Given the description of an element on the screen output the (x, y) to click on. 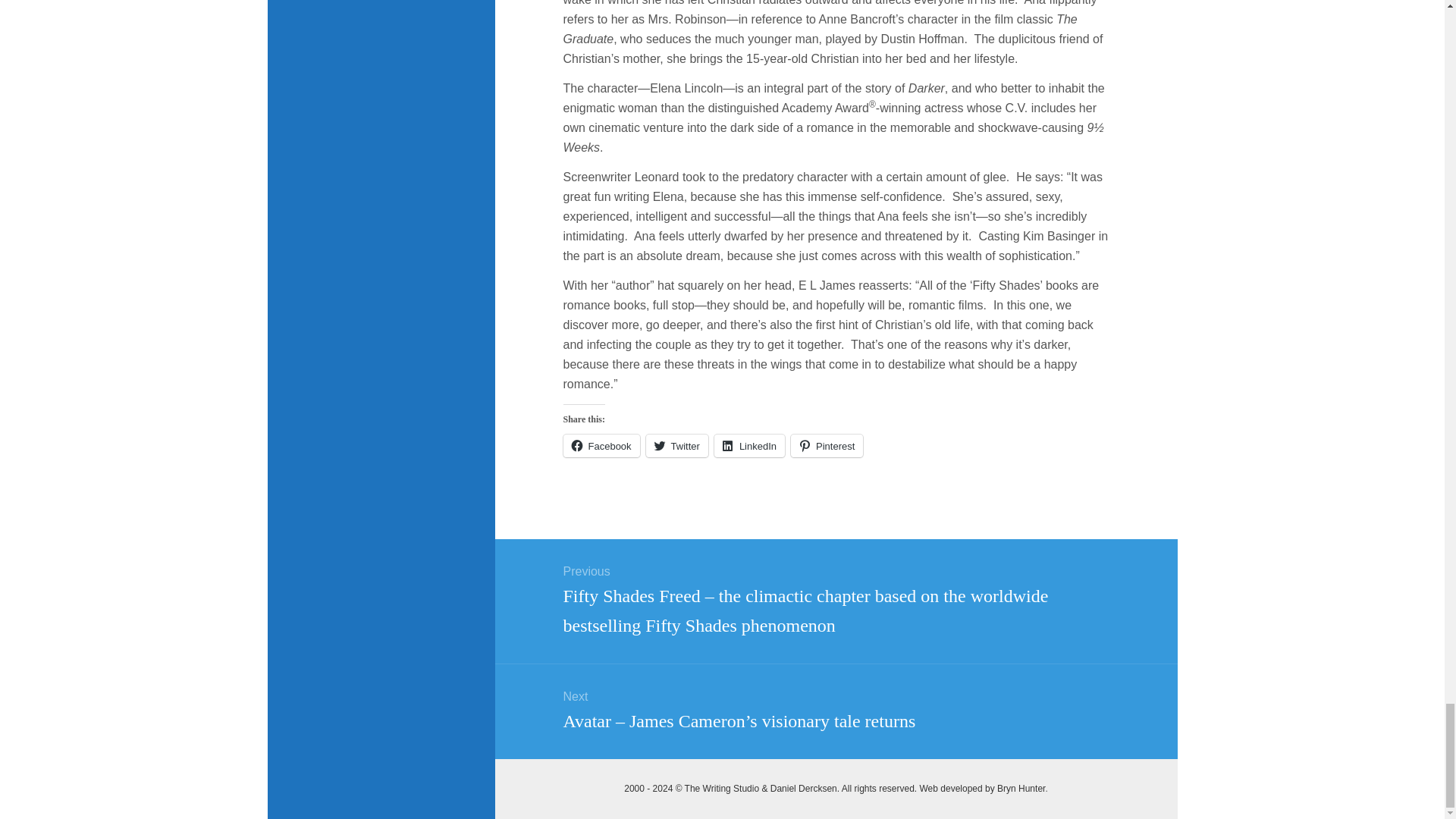
Click to share on Twitter (676, 445)
Facebook (600, 445)
Click to share on LinkedIn (749, 445)
Twitter (676, 445)
Click to share on Pinterest (826, 445)
Pinterest (826, 445)
LinkedIn (749, 445)
Click to share on Facebook (600, 445)
